Given the description of an element on the screen output the (x, y) to click on. 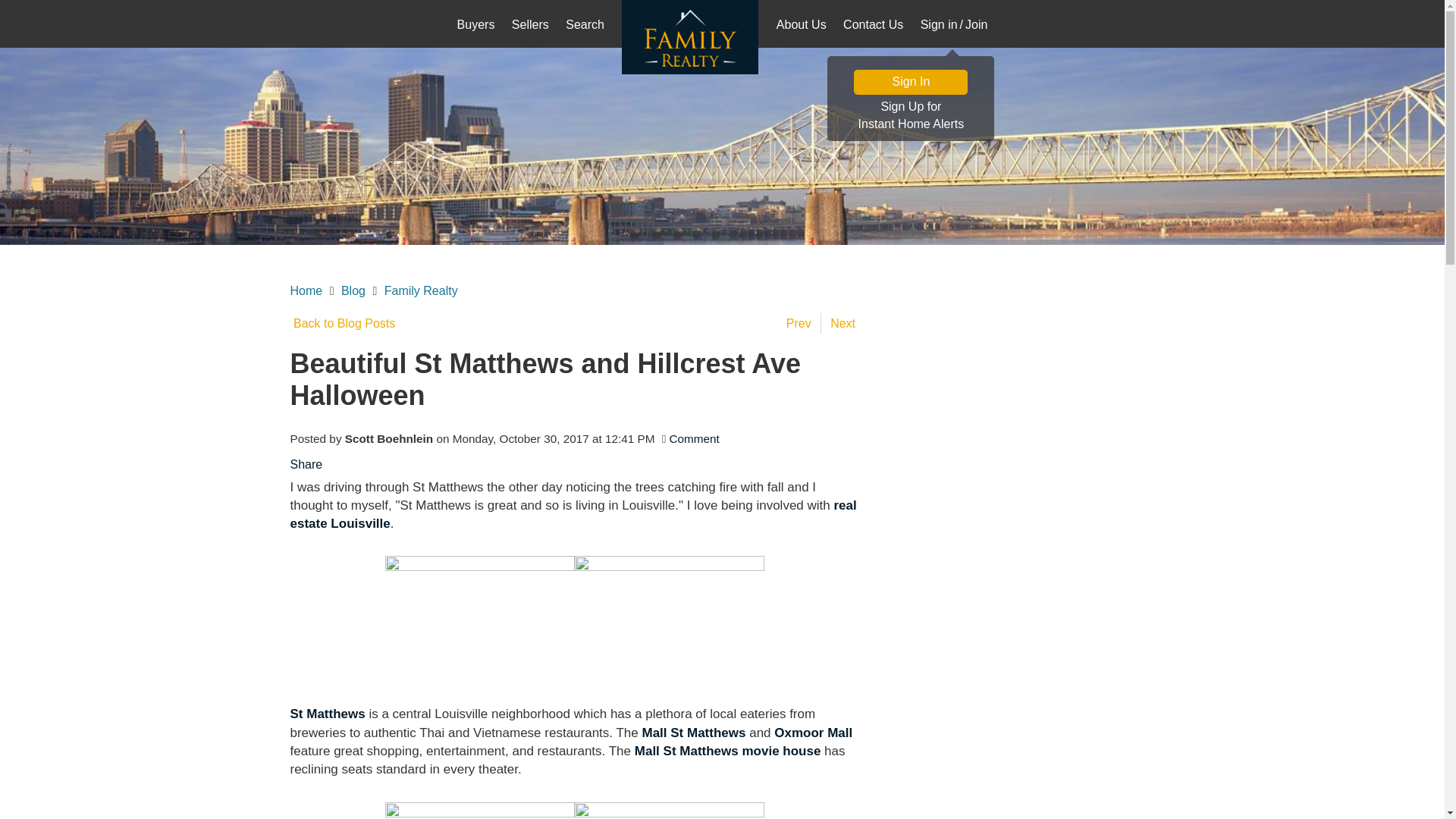
Family Realty (421, 290)
Prev (802, 322)
Blog (352, 290)
Next (844, 322)
Comment (694, 438)
Mall St Matthews (693, 732)
real estate Louisville (572, 513)
Search (585, 25)
Share (305, 463)
Oxmoor Mall (812, 732)
Back to Blog Posts (341, 323)
About Us (801, 25)
St Matthews (327, 713)
Home (910, 116)
